Given the description of an element on the screen output the (x, y) to click on. 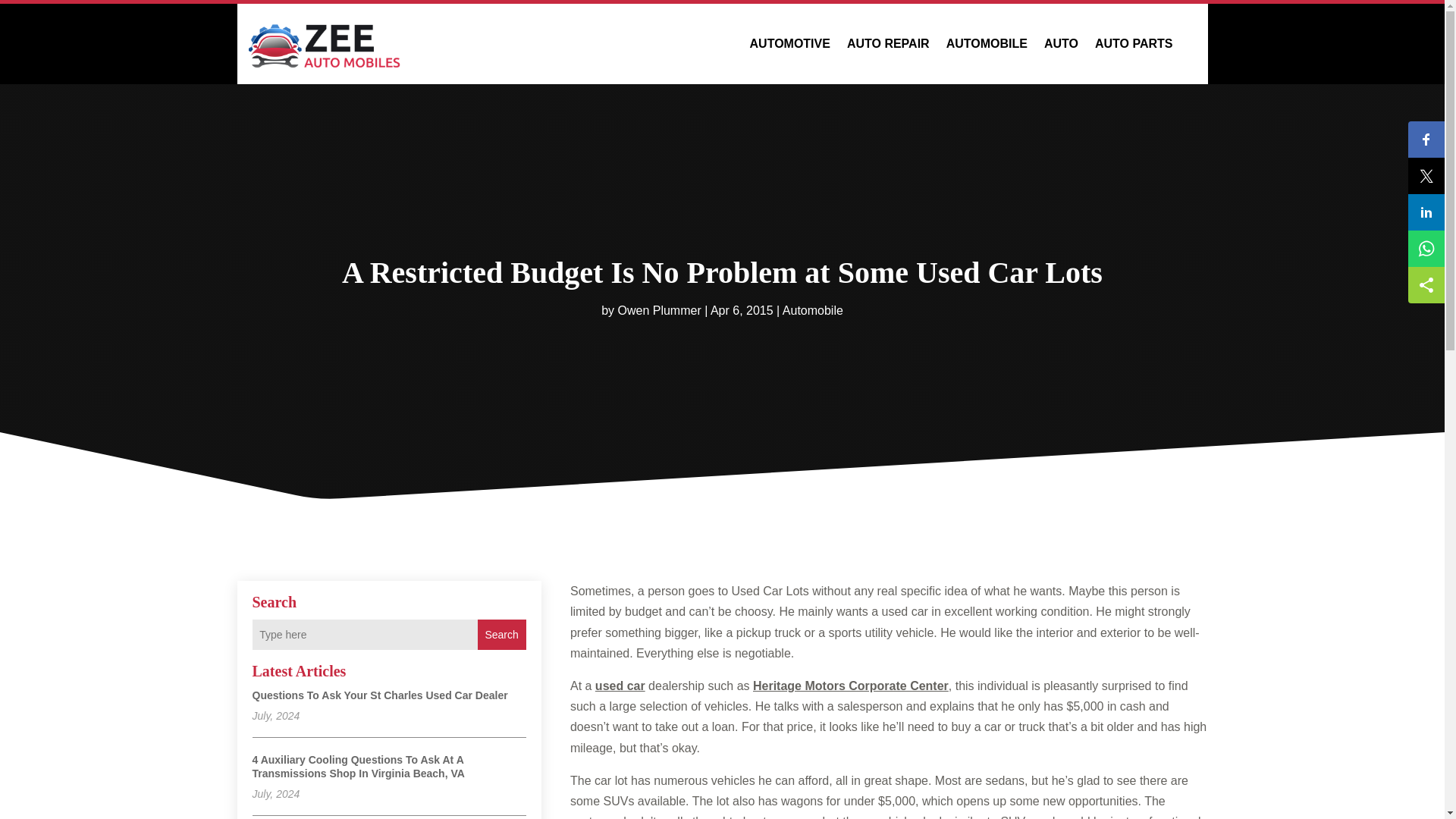
AUTOMOBILE (986, 43)
AUTOMOTIVE (789, 43)
Search (501, 634)
AUTO PARTS (1133, 43)
AUTO REPAIR (888, 43)
Automobile (813, 309)
Questions To Ask Your St Charles Used Car Dealer (378, 695)
Posts by Owen Plummer (658, 309)
Owen Plummer (658, 309)
